Given the description of an element on the screen output the (x, y) to click on. 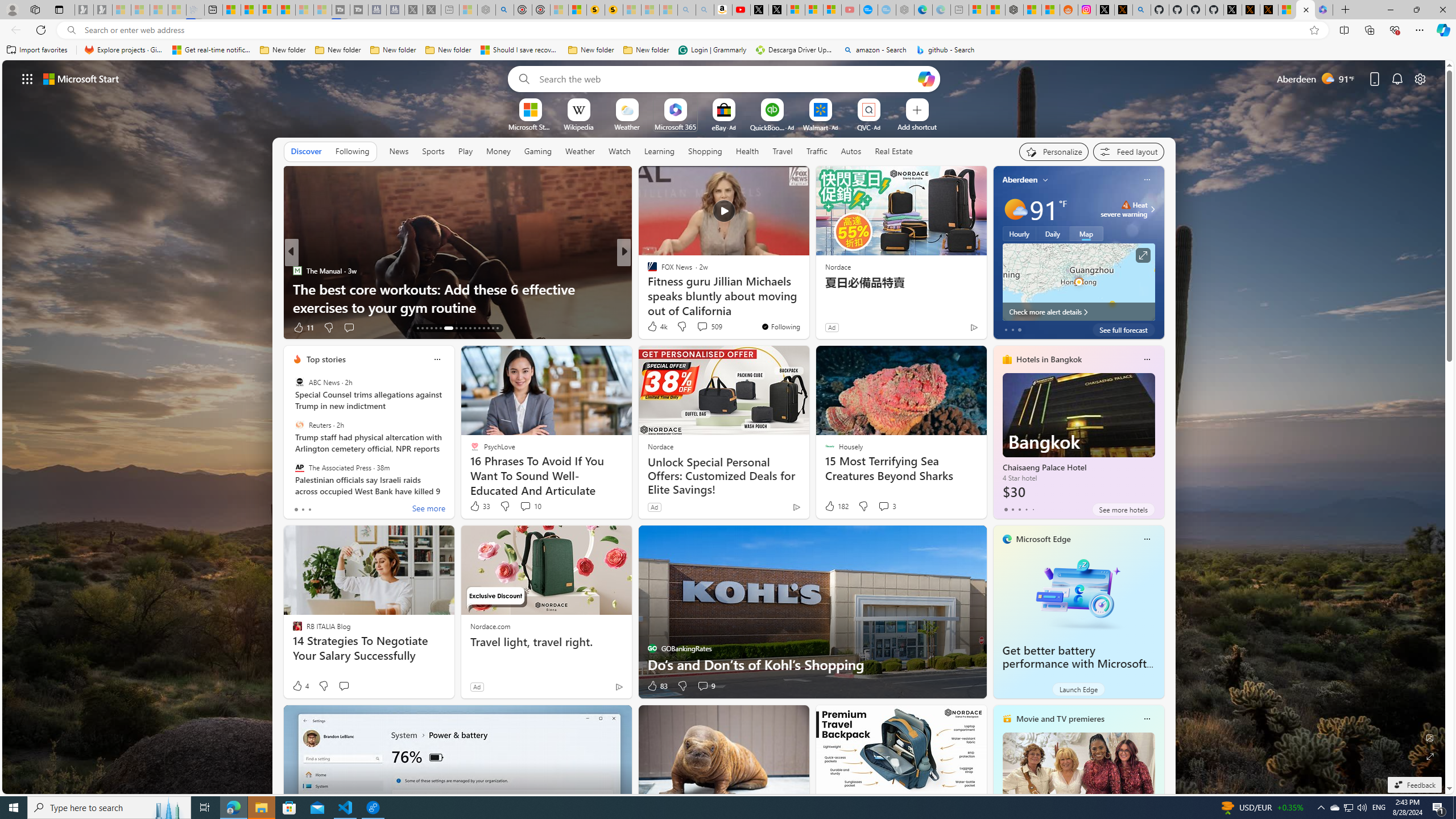
AutomationID: tab-21 (460, 328)
Gaming (537, 151)
Nordace - Summer Adventures 2024 - Sleeping (486, 9)
X Privacy Policy (1268, 9)
Edit Background (1430, 737)
Add a site (916, 126)
Log in to X / X (1105, 9)
4 Like (299, 685)
Day 1: Arriving in Yemen (surreal to be here) - YouTube (741, 9)
Autos (850, 151)
